Given the description of an element on the screen output the (x, y) to click on. 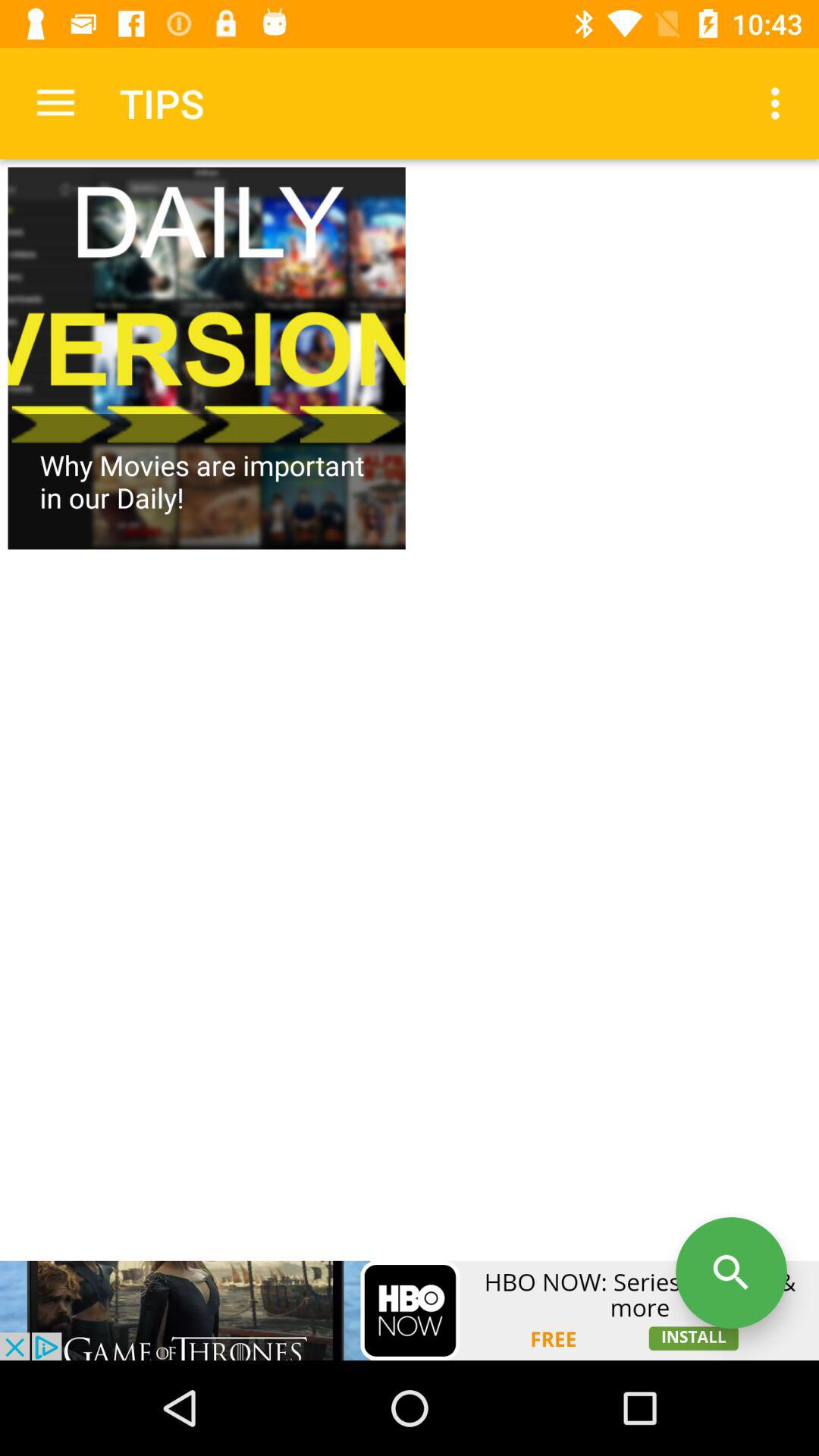
hbo now advertisement (409, 1310)
